Given the description of an element on the screen output the (x, y) to click on. 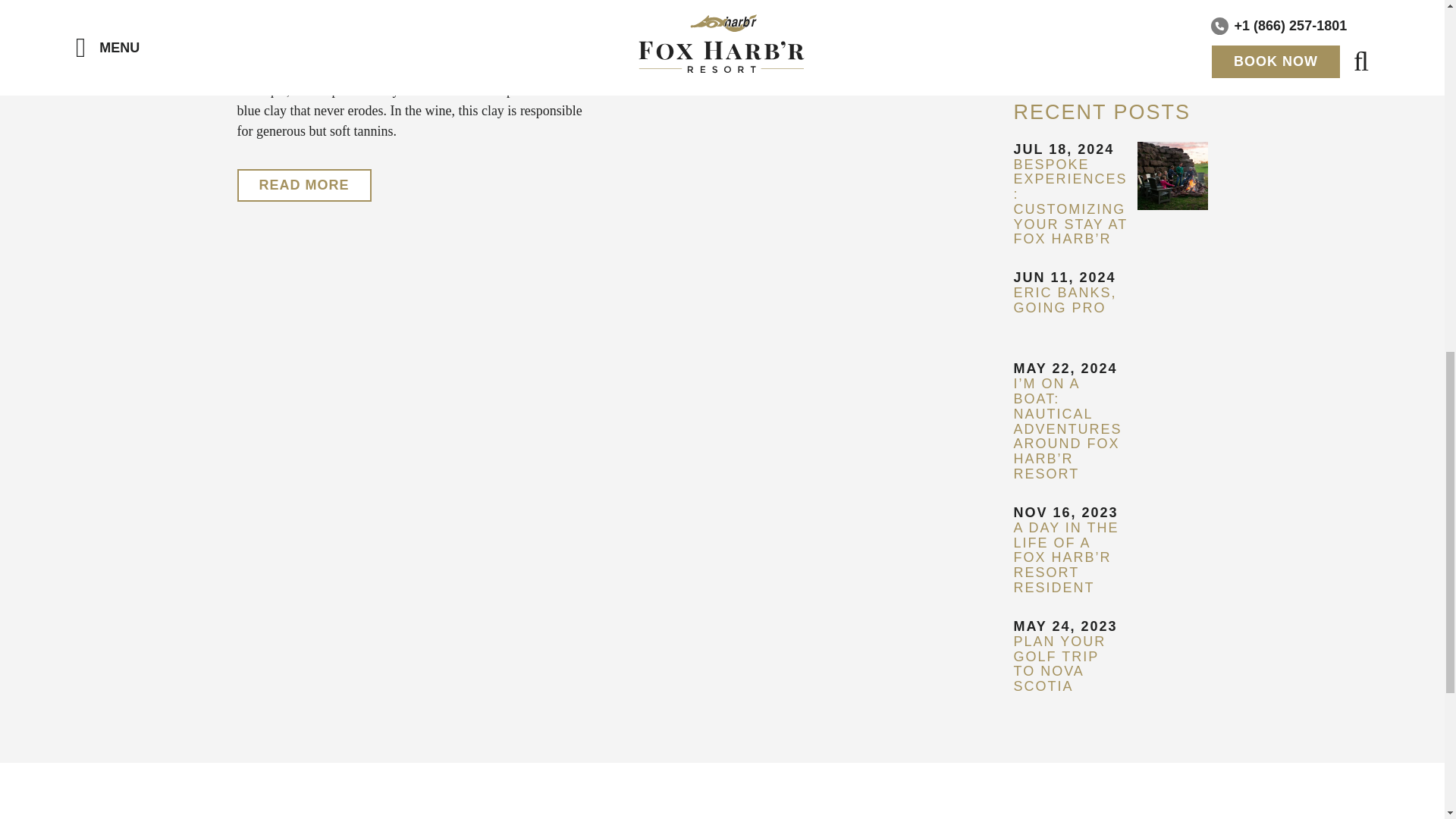
TRAVEL WELL (1110, 8)
READ MORE (303, 184)
WINE (1110, 41)
